Given the description of an element on the screen output the (x, y) to click on. 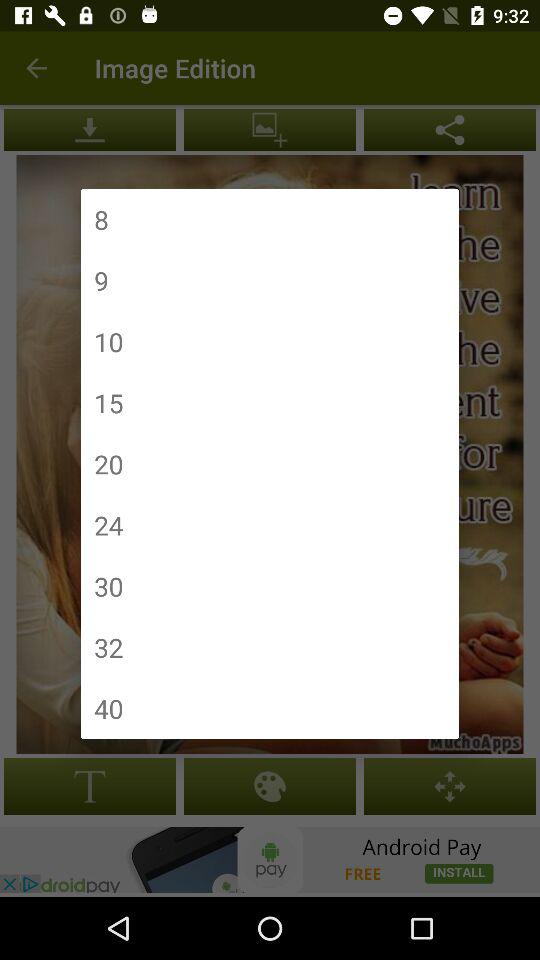
launch item above 24 icon (108, 463)
